Given the description of an element on the screen output the (x, y) to click on. 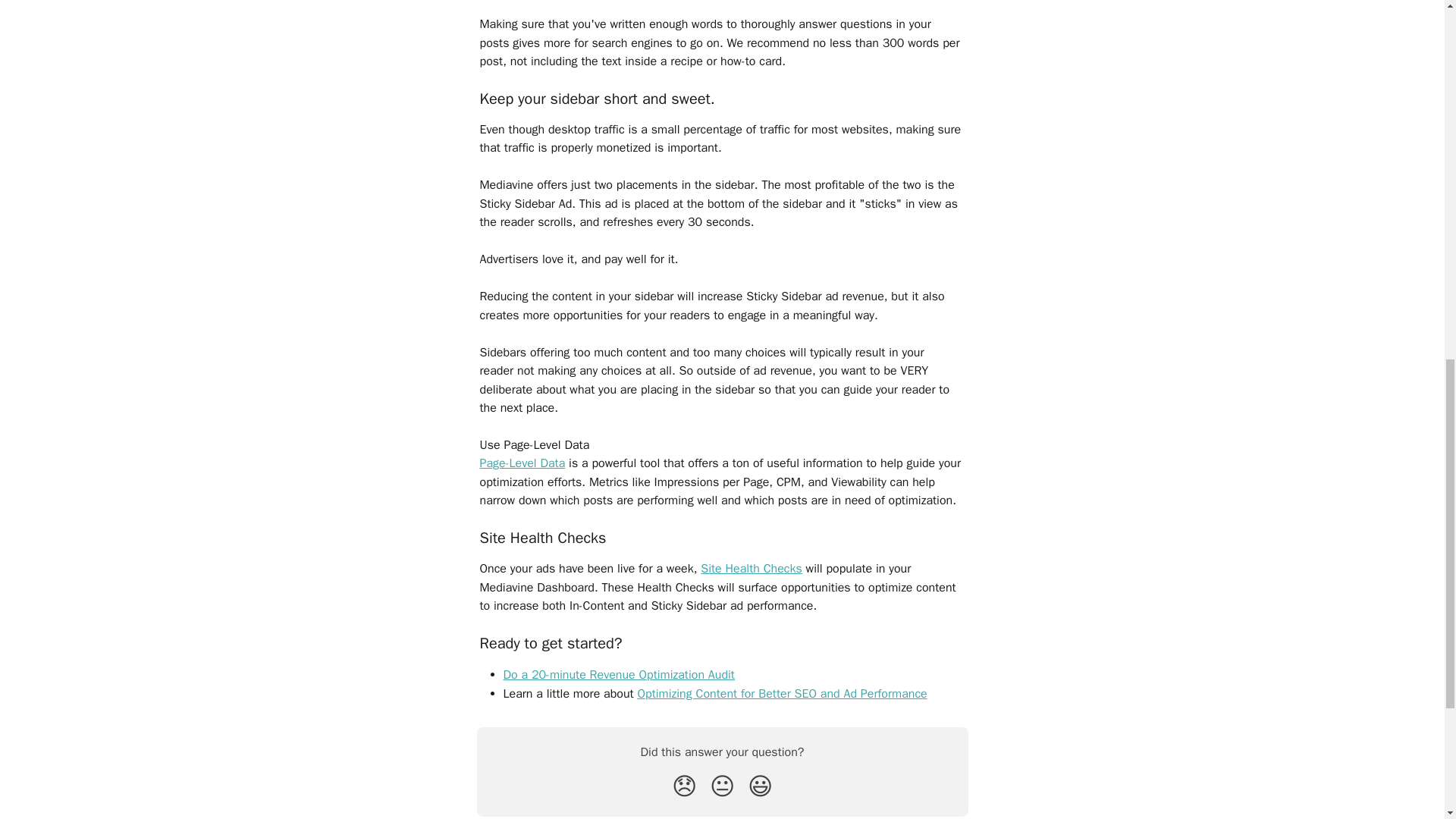
Site Health Checks (751, 568)
Page-Level Data (521, 462)
Do a 20-minute Revenue Optimization Audit (619, 674)
Optimizing Content for Better SEO and Ad Performance (781, 693)
